Given the description of an element on the screen output the (x, y) to click on. 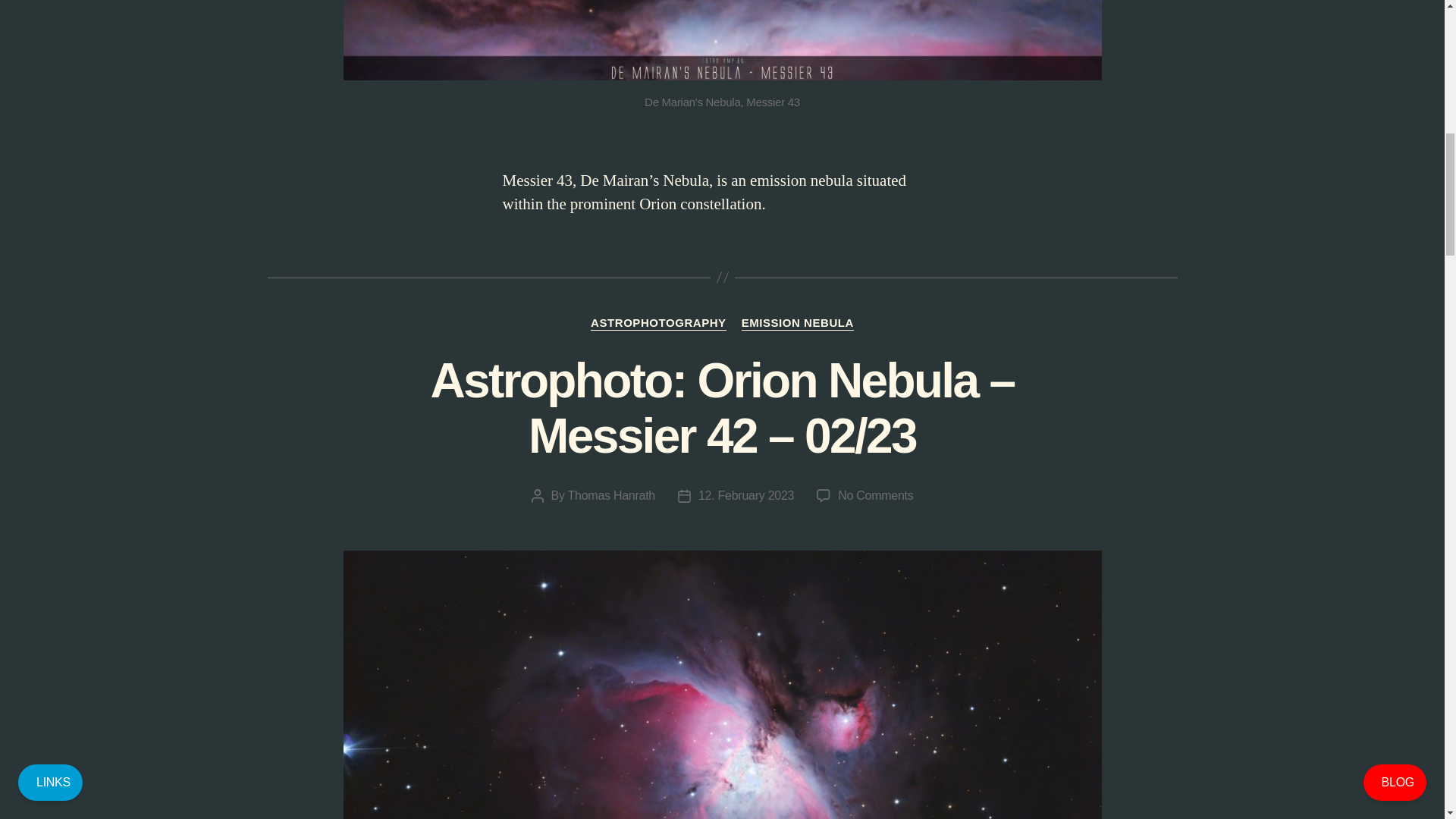
EMISSION NEBULA (797, 323)
12. February 2023 (745, 495)
Thomas Hanrath (611, 495)
ASTROPHOTOGRAPHY (658, 323)
